Given the description of an element on the screen output the (x, y) to click on. 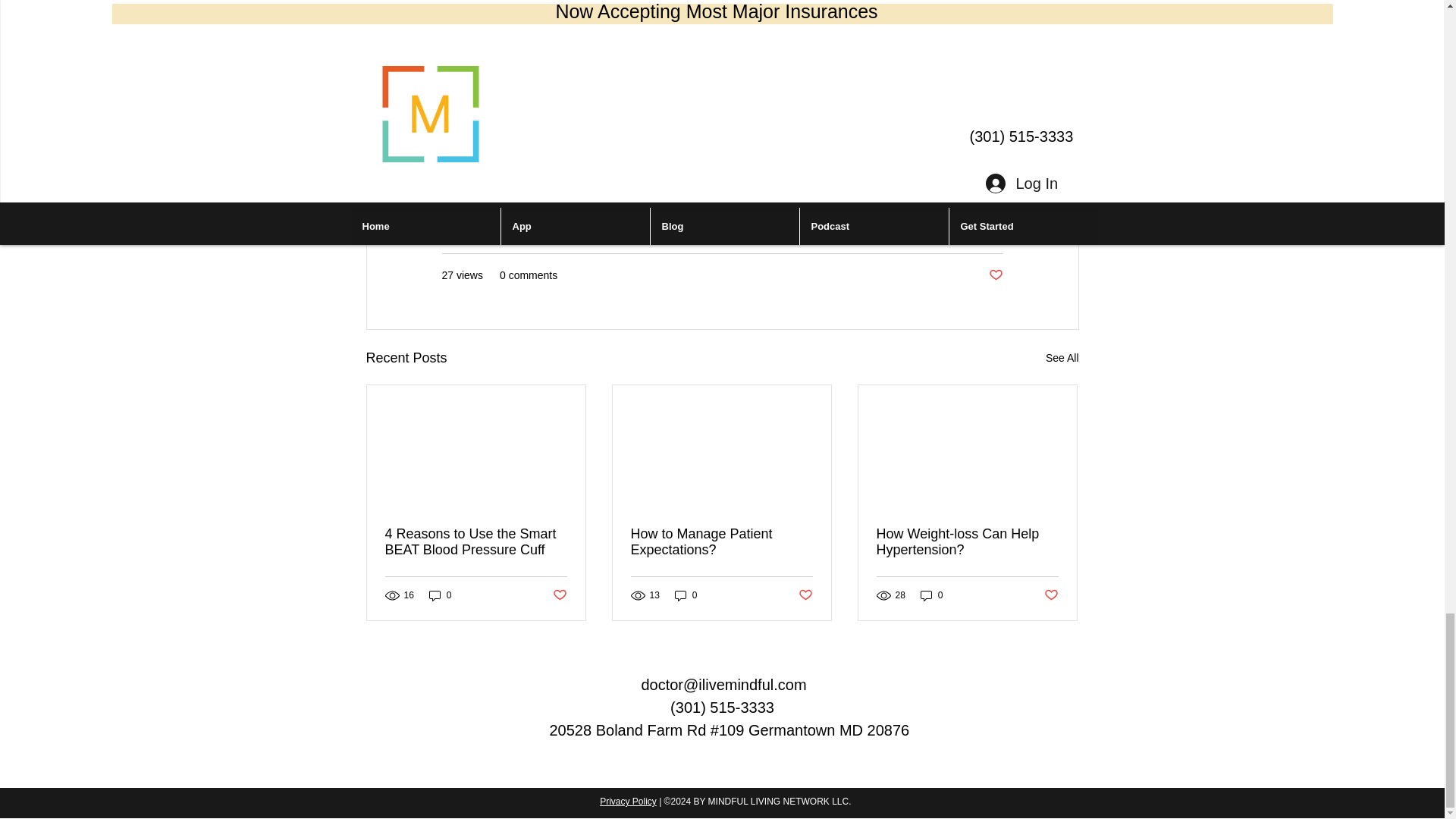
Post not marked as liked (804, 595)
0 (931, 595)
Privacy Policy (627, 801)
0 (685, 595)
See All (1061, 358)
How Weight-loss Can Help Hypertension? (967, 541)
Post not marked as liked (1050, 595)
Post not marked as liked (995, 275)
0 (440, 595)
4 Reasons to Use the Smart BEAT Blood Pressure Cuff (476, 541)
